Given the description of an element on the screen output the (x, y) to click on. 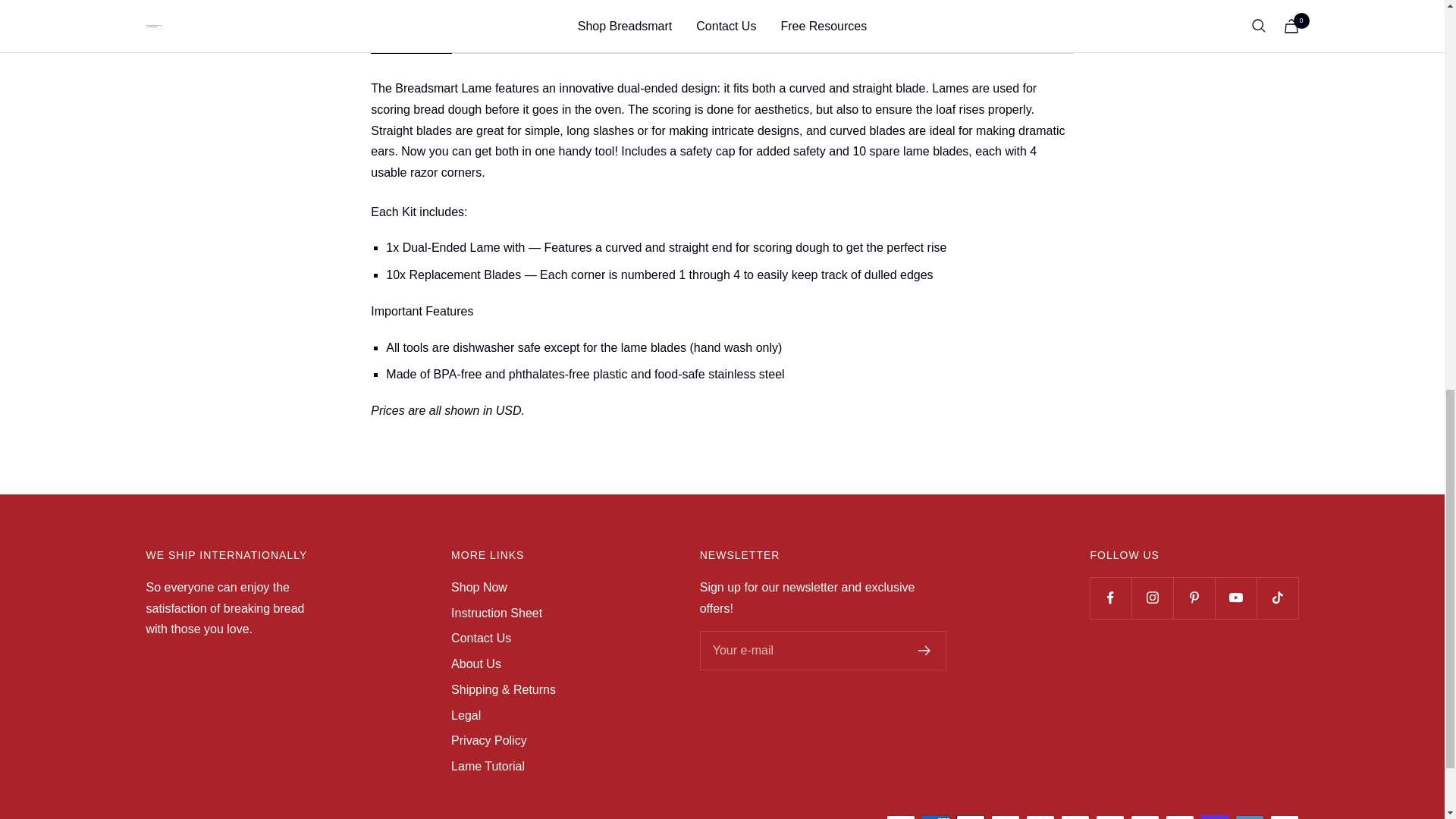
DESCRIPTION (722, 40)
NEED HELP? (411, 40)
Register (542, 40)
